Given the description of an element on the screen output the (x, y) to click on. 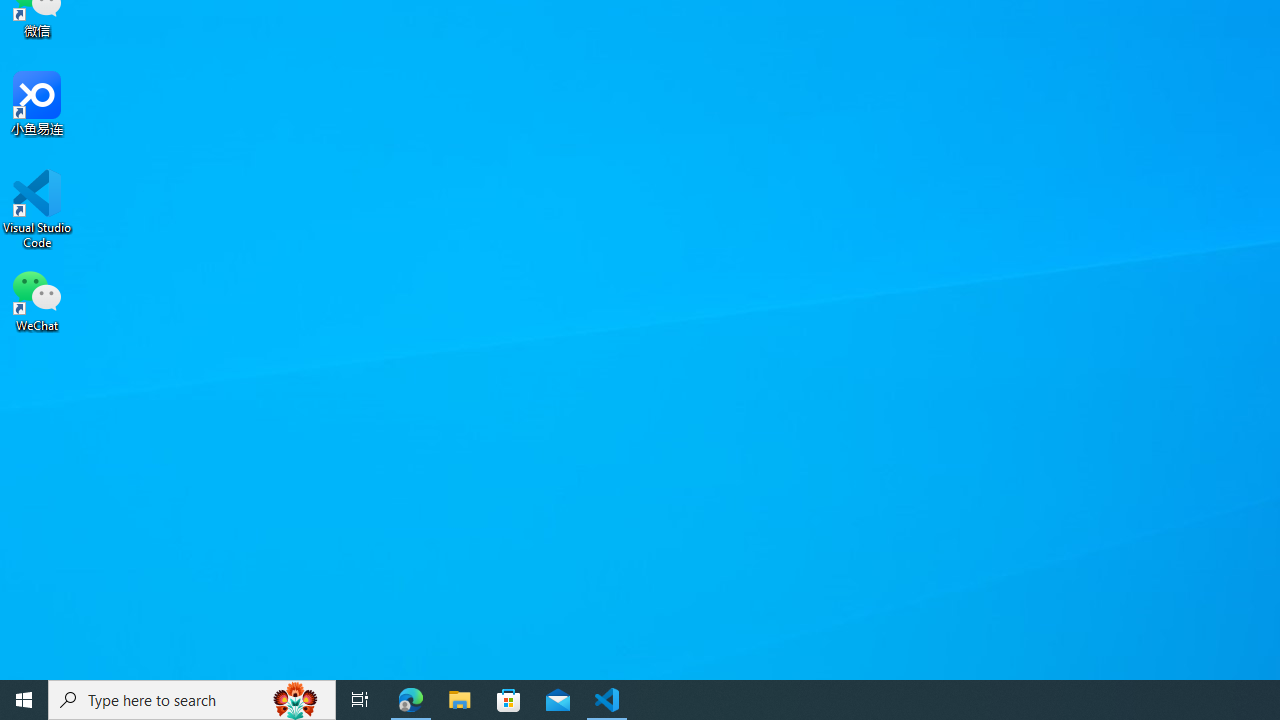
Microsoft Edge - 1 running window (411, 699)
Microsoft Store (509, 699)
File Explorer (460, 699)
Type here to search (191, 699)
Visual Studio Code (37, 209)
Start (24, 699)
WeChat (37, 299)
Visual Studio Code - 1 running window (607, 699)
Search highlights icon opens search home window (295, 699)
Task View (359, 699)
